Given the description of an element on the screen output the (x, y) to click on. 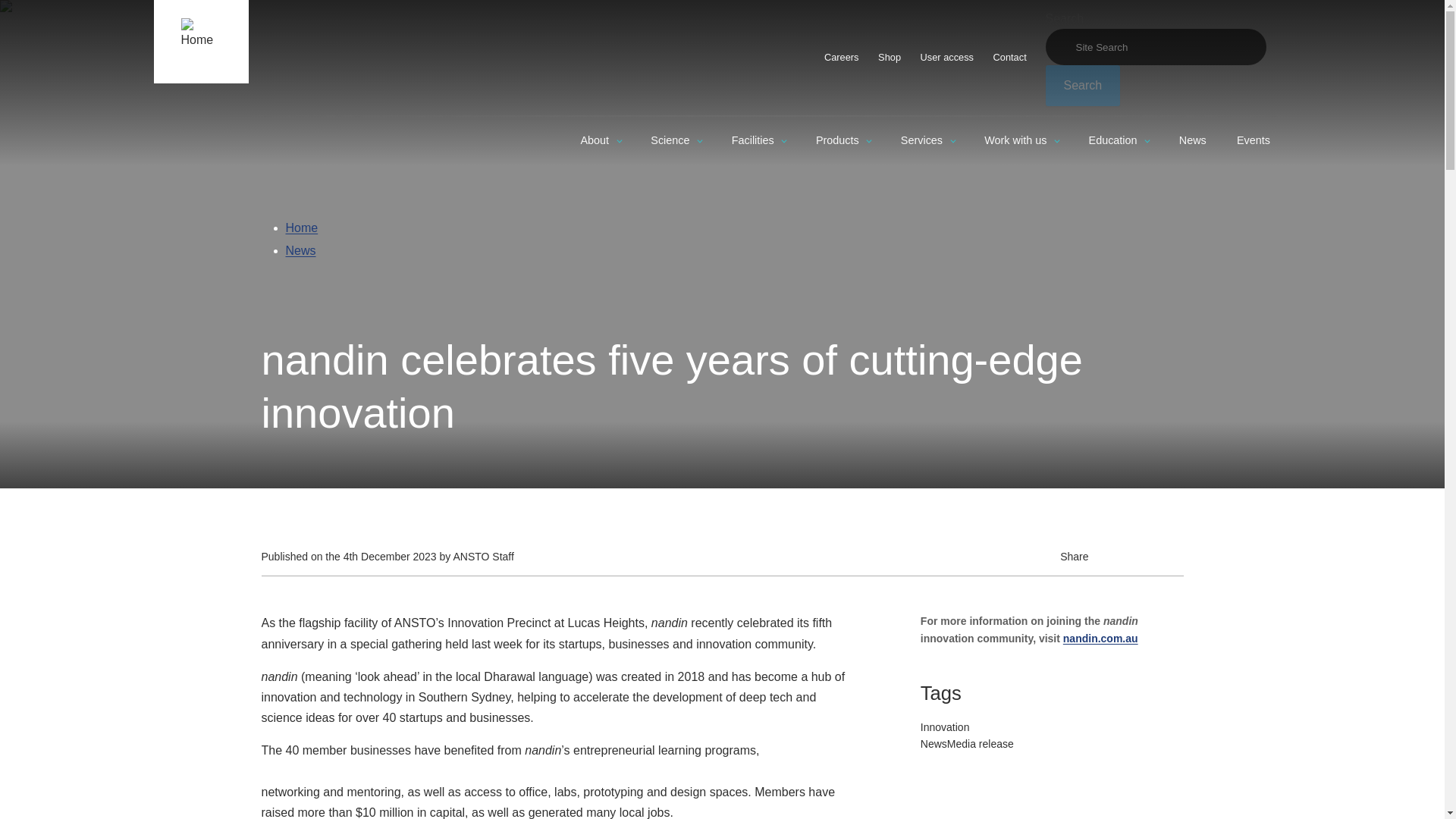
Careers (840, 56)
Expand (618, 140)
Contact (1010, 56)
User access (947, 56)
Shop (888, 56)
Search (1082, 85)
Search (1082, 85)
About (600, 140)
